Given the description of an element on the screen output the (x, y) to click on. 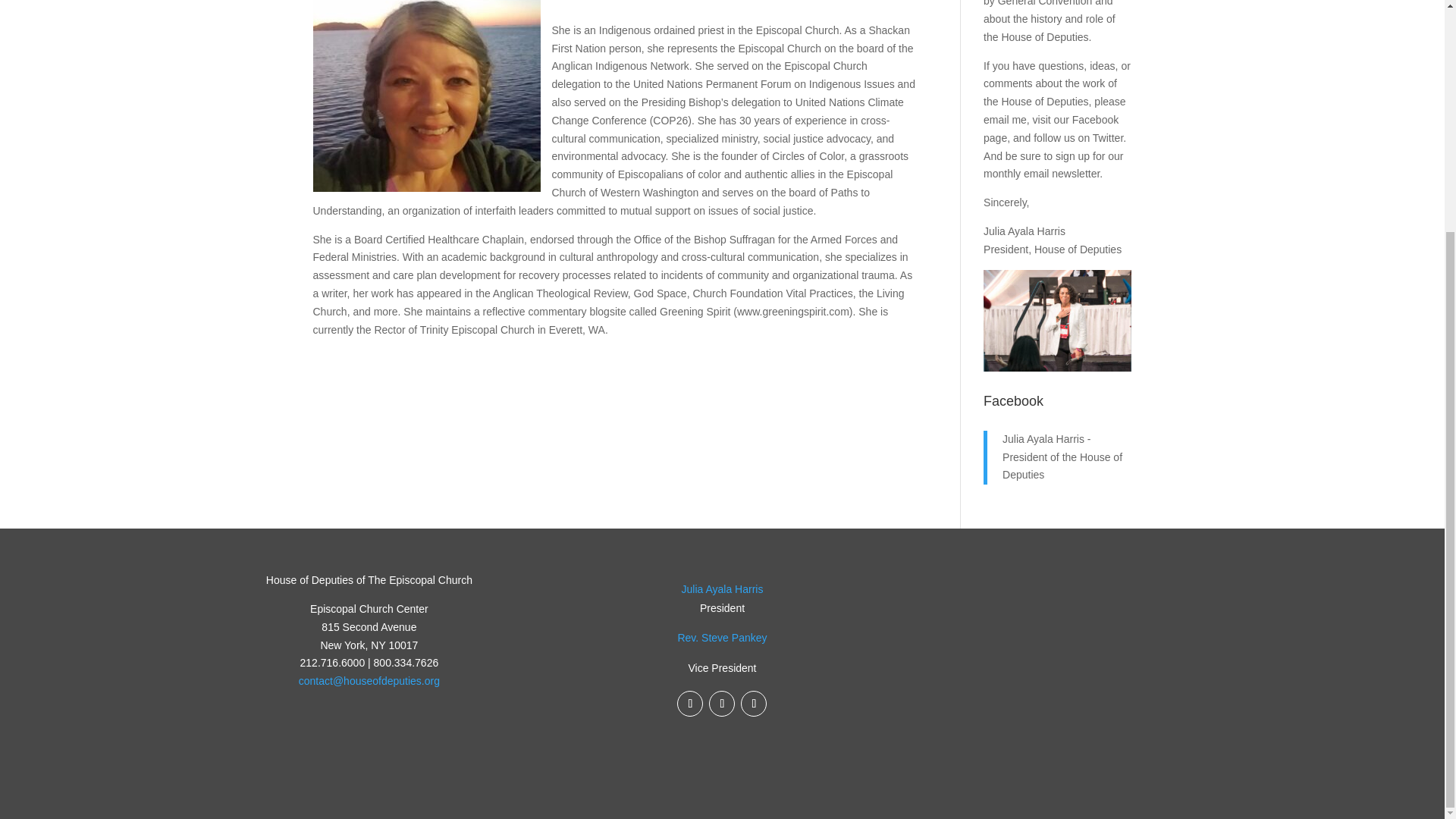
Julia Ayala Harris - President of the House of Deputies (1062, 457)
sign up (1072, 155)
Follow on Facebook (690, 703)
email me (1005, 119)
Rev. Steve Pankey (722, 637)
Facebook page (1051, 128)
President of the House of Deputies (721, 589)
Julia Ayala Harris (721, 589)
Follow on Instagram (722, 703)
Follow on TikTok (754, 703)
Twitter (1107, 137)
Vice President of the House of Deputies (722, 637)
